Given the description of an element on the screen output the (x, y) to click on. 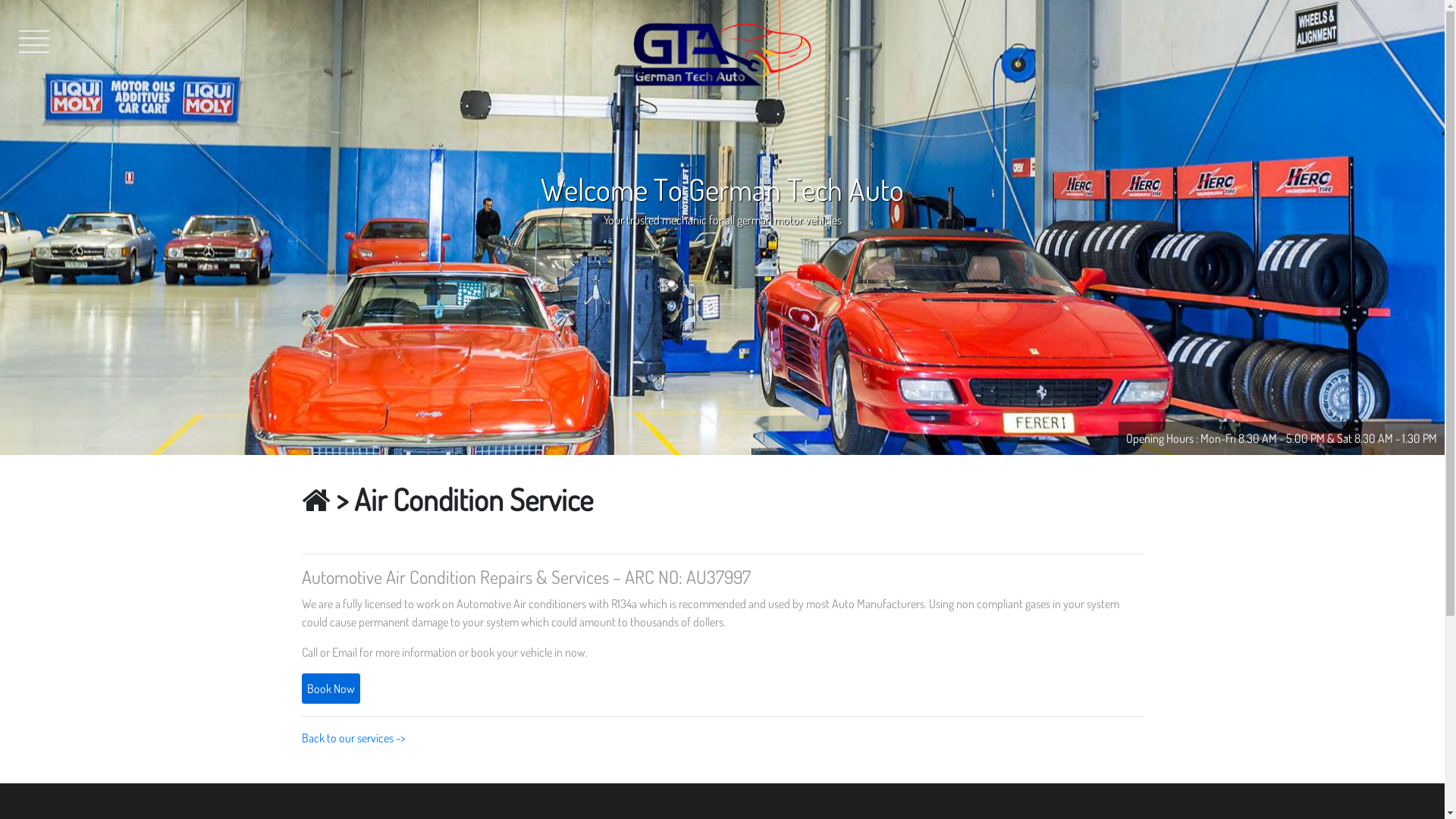
Book Now Element type: text (330, 688)
Book Now Element type: text (330, 688)
Back to our services -> Element type: text (352, 737)
